Given the description of an element on the screen output the (x, y) to click on. 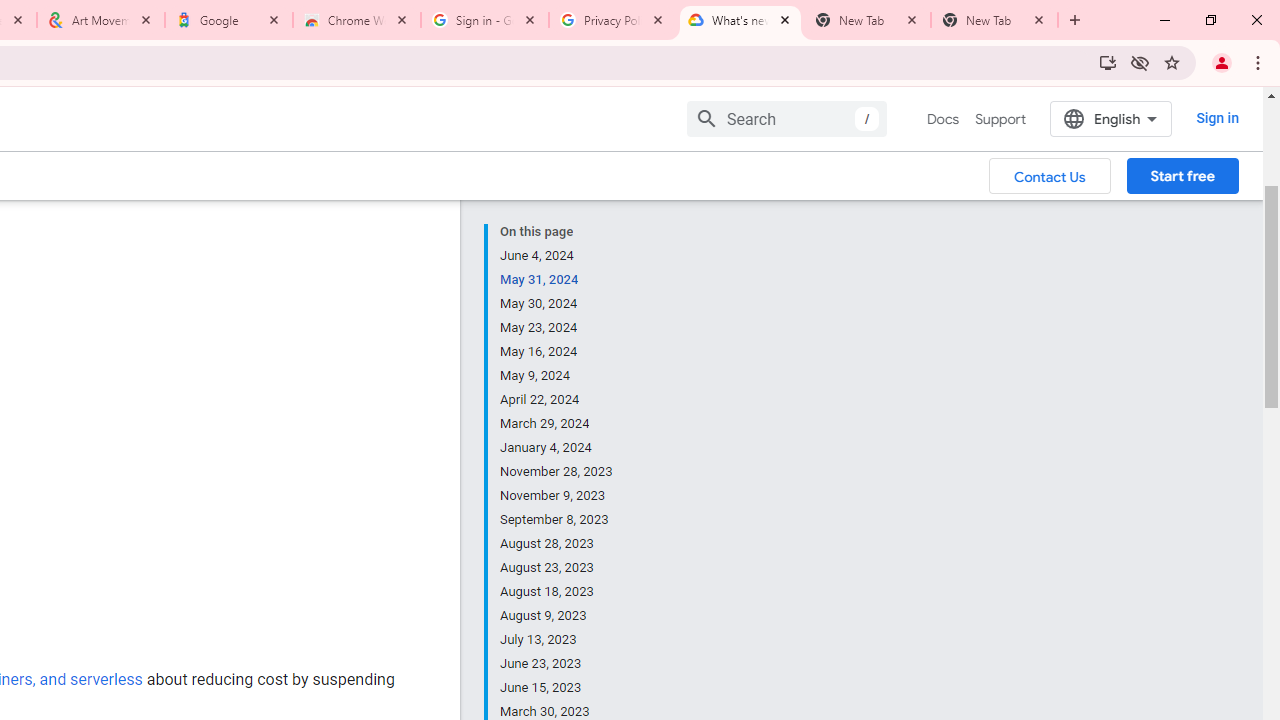
June 4, 2024 (557, 255)
Sign in - Google Accounts (485, 20)
Support (1000, 119)
June 15, 2023 (557, 687)
Docs, selected (942, 119)
January 4, 2024 (557, 448)
Start free (1182, 175)
August 28, 2023 (557, 543)
September 8, 2023 (557, 520)
May 9, 2024 (557, 376)
